Given the description of an element on the screen output the (x, y) to click on. 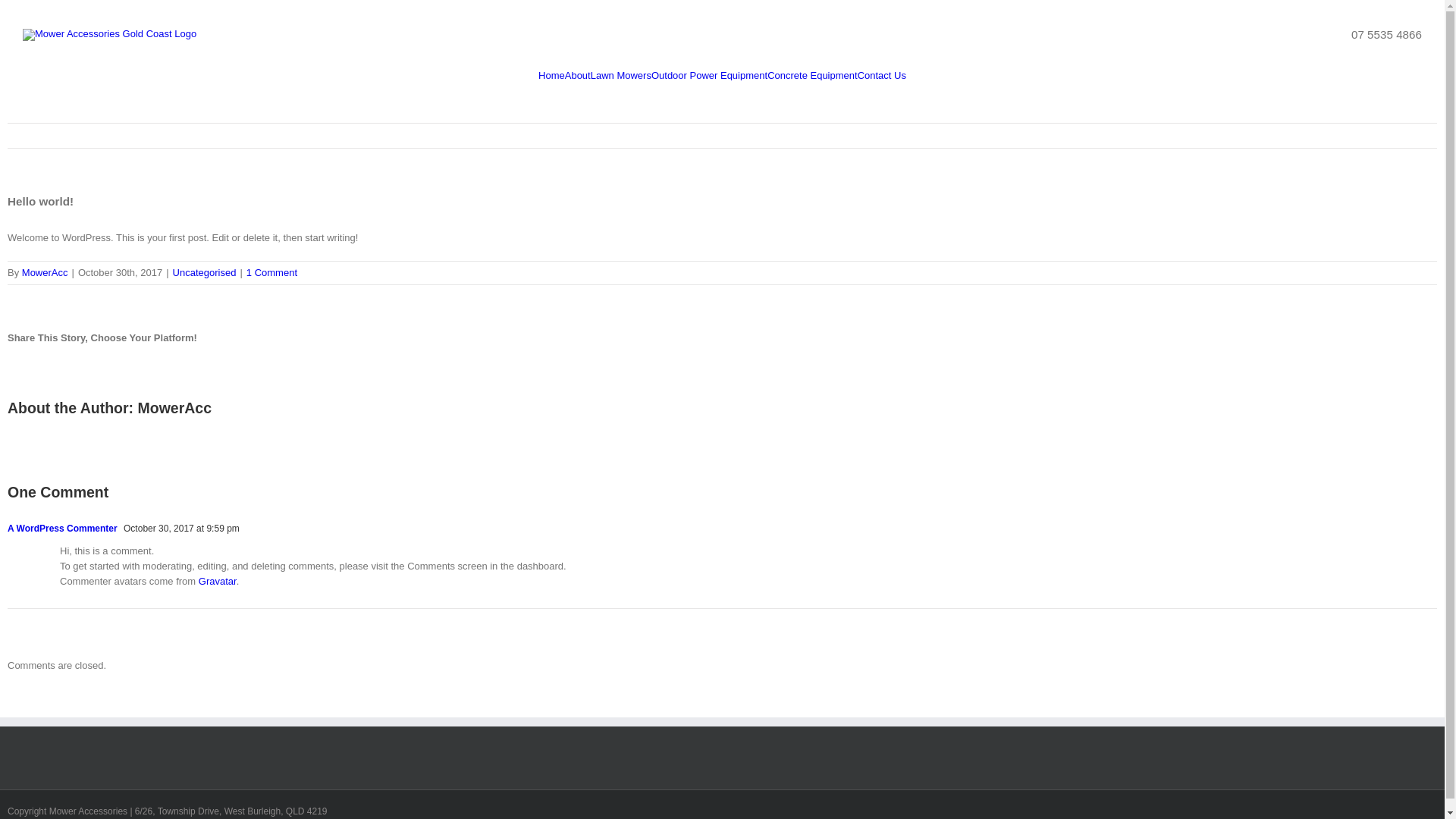
Uncategorised Element type: text (204, 272)
Contact Us Element type: text (881, 75)
Lawn Mowers Element type: text (620, 75)
1 Comment Element type: text (271, 272)
Outdoor Power Equipment Element type: text (709, 75)
Gravatar Element type: text (217, 580)
A WordPress Commenter Element type: text (62, 528)
MowerAcc Element type: text (174, 407)
About Element type: text (577, 75)
Home Element type: text (551, 75)
Concrete Equipment Element type: text (812, 75)
MowerAcc Element type: text (44, 272)
